Given the description of an element on the screen output the (x, y) to click on. 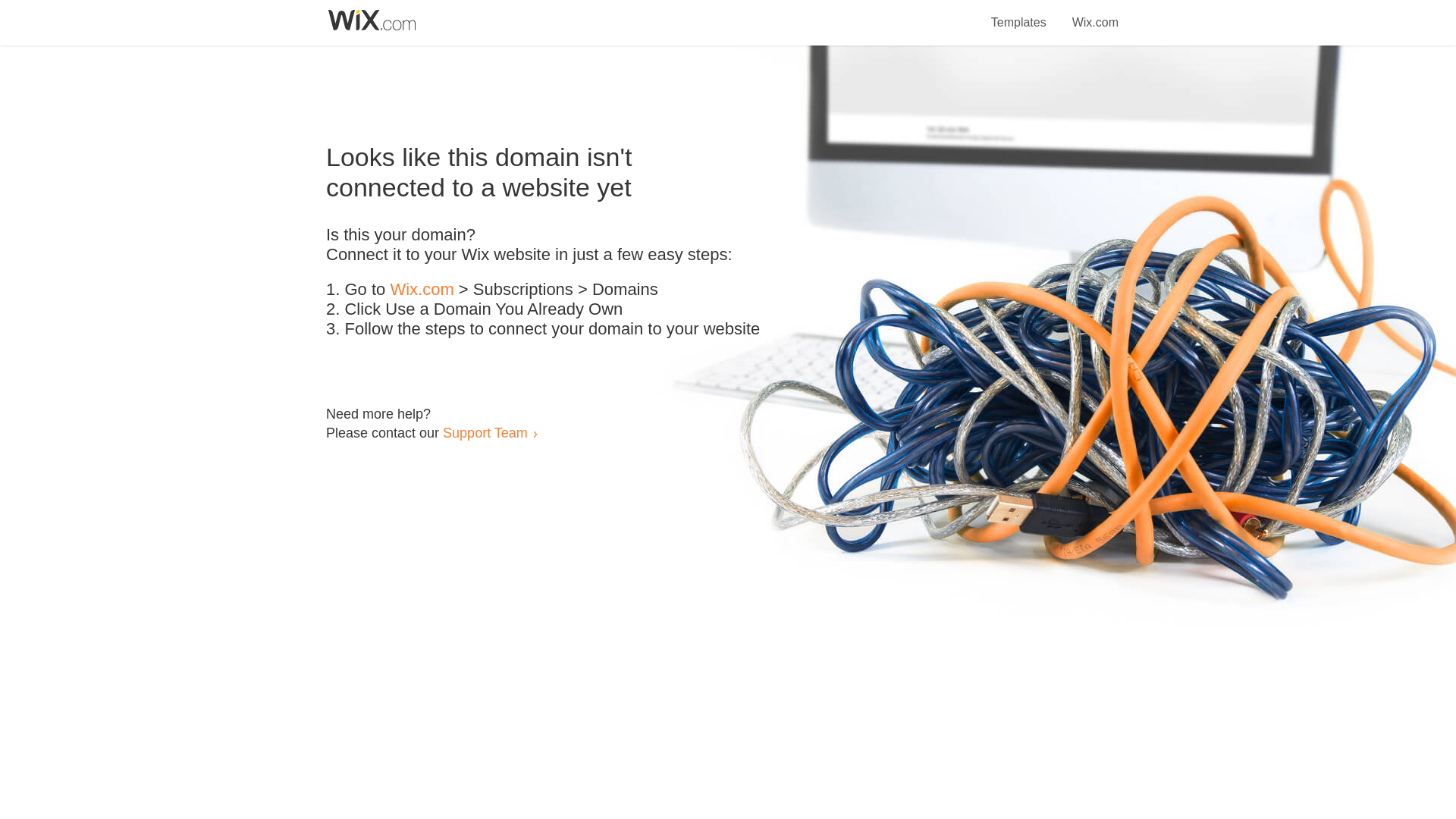
Wix.com (421, 289)
Templates (1018, 14)
Wix.com (1095, 14)
Support Team (484, 432)
